Given the description of an element on the screen output the (x, y) to click on. 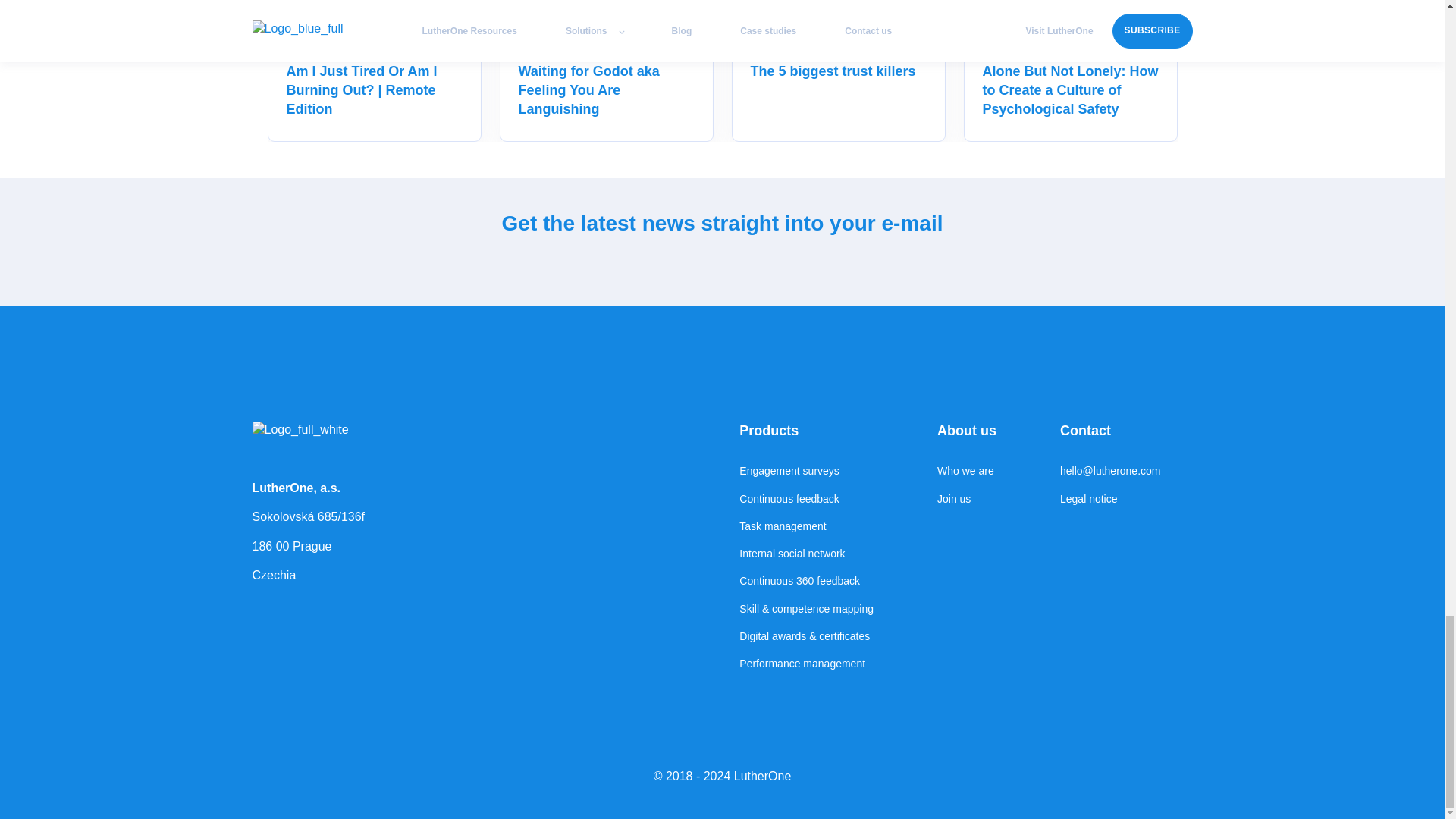
Continuous feedback (806, 499)
Engagement surveys (806, 471)
Waiting for Godot aka Feeling You Are Languishing (588, 90)
The 5 biggest trust killers (833, 70)
